Given the description of an element on the screen output the (x, y) to click on. 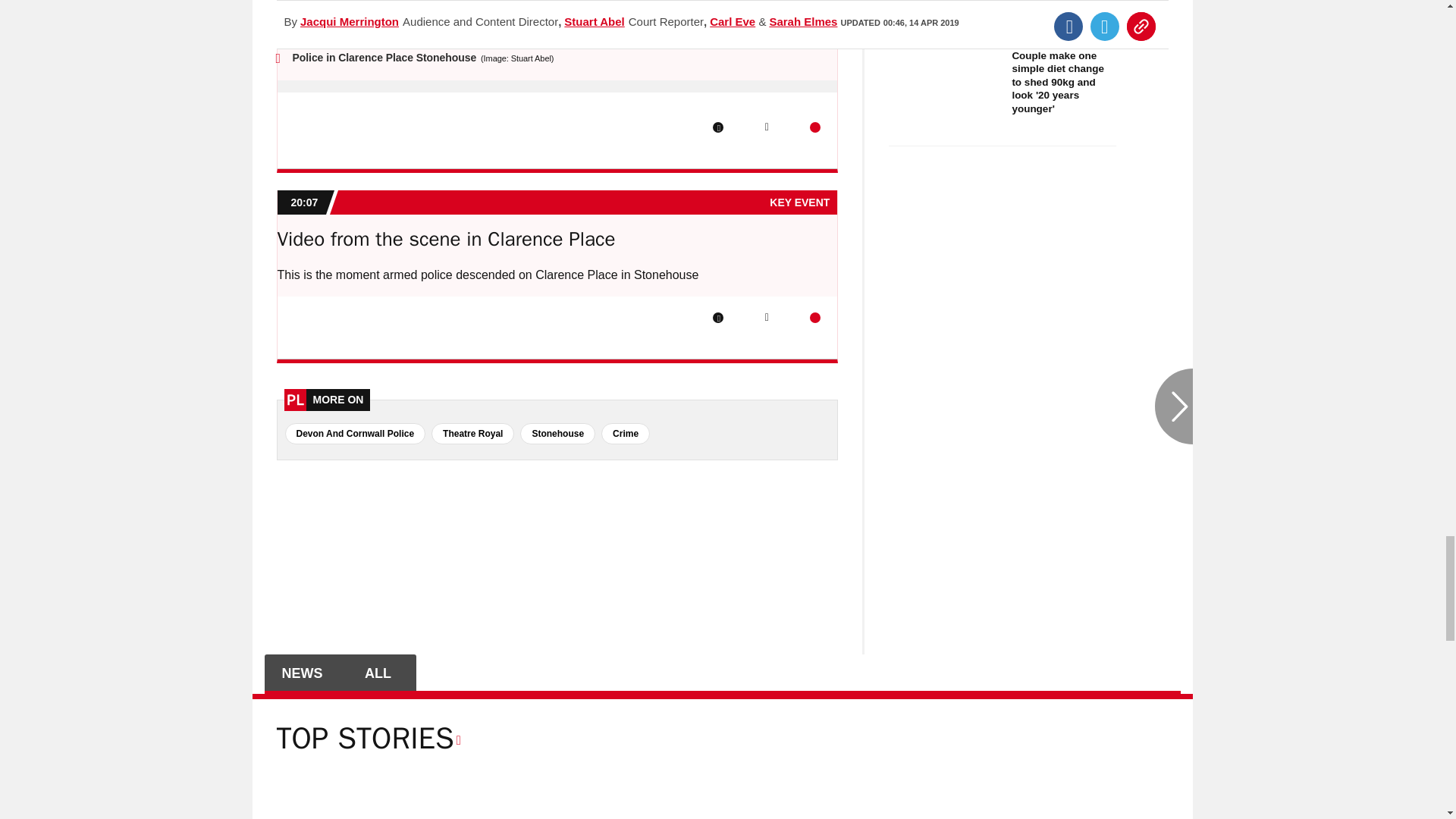
Facebook (718, 127)
Twitter (766, 127)
Facebook (718, 317)
